Given the description of an element on the screen output the (x, y) to click on. 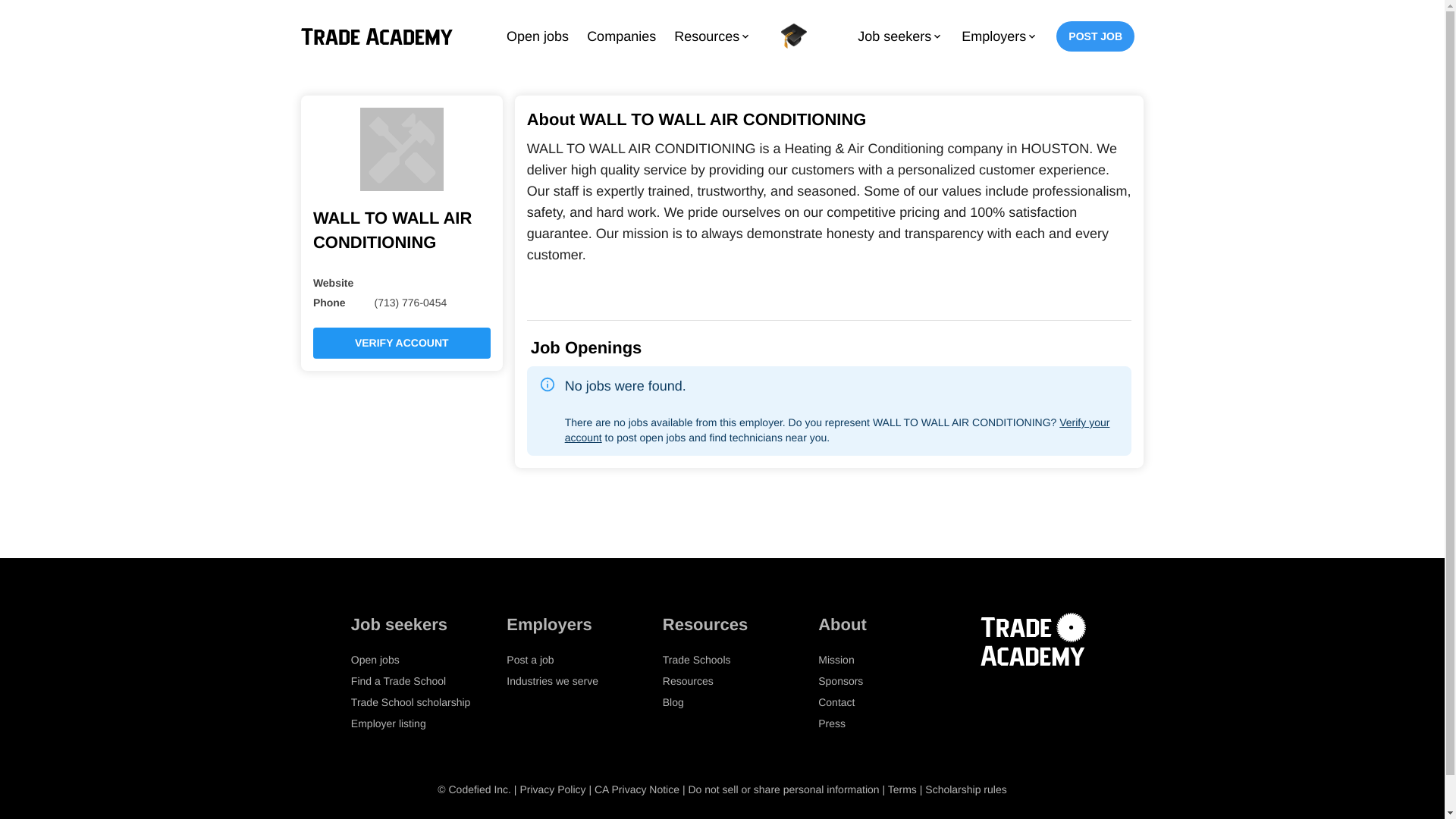
Verify your account (836, 429)
Resources (687, 680)
Terms (902, 788)
CA Privacy Notice (636, 788)
Do not sell or share personal information (783, 788)
POST JOB (1095, 36)
Scholarship (794, 36)
Mission (835, 659)
Sponsors (840, 680)
POST JOB (1094, 36)
Post a job (529, 659)
Trade Schools (696, 659)
Trade School scholarship (410, 702)
Employer listing (388, 723)
Industries we serve (552, 680)
